Given the description of an element on the screen output the (x, y) to click on. 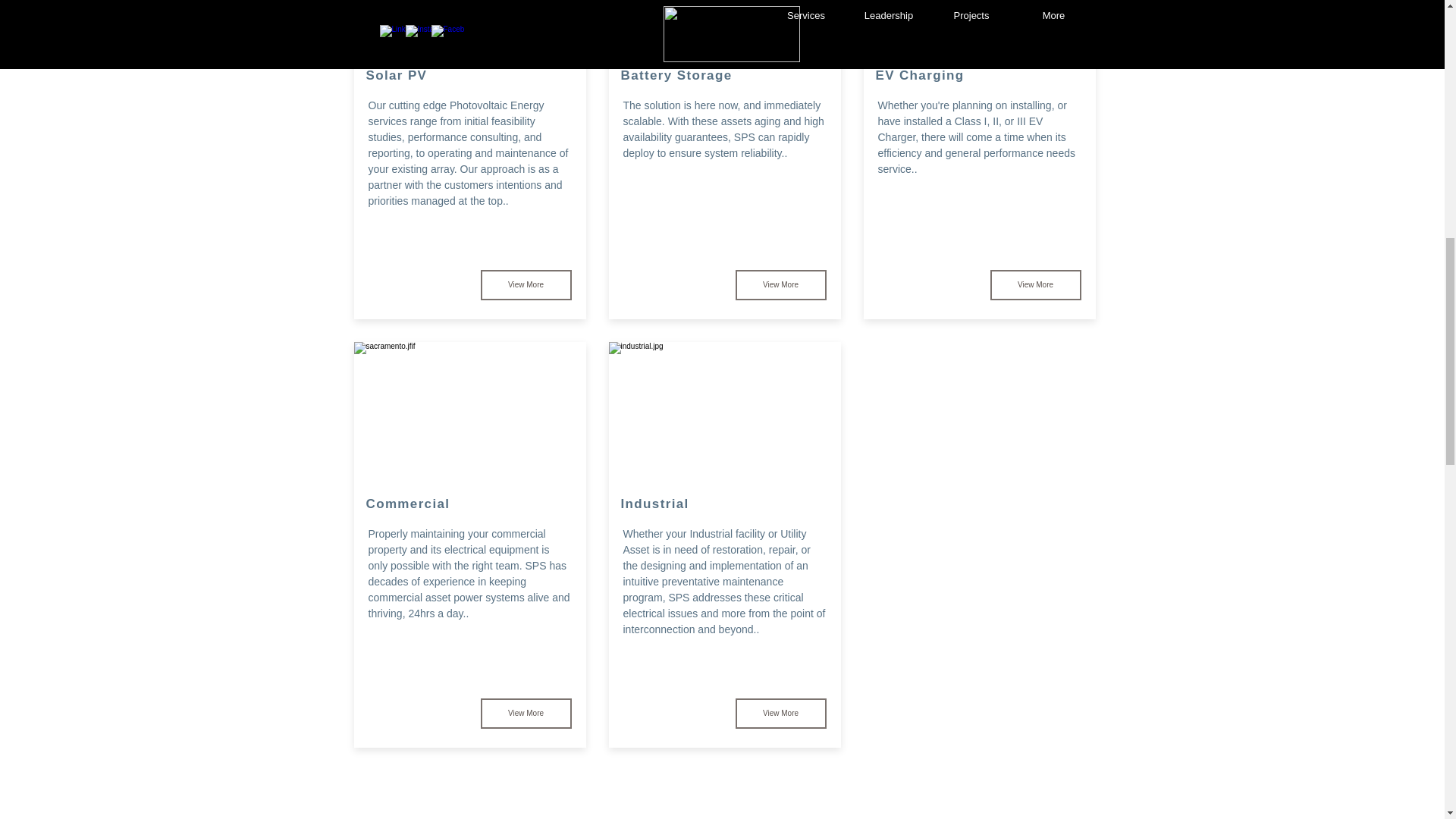
View More (781, 713)
View More (526, 713)
View More (1035, 285)
View More (781, 285)
View More (526, 285)
